Given the description of an element on the screen output the (x, y) to click on. 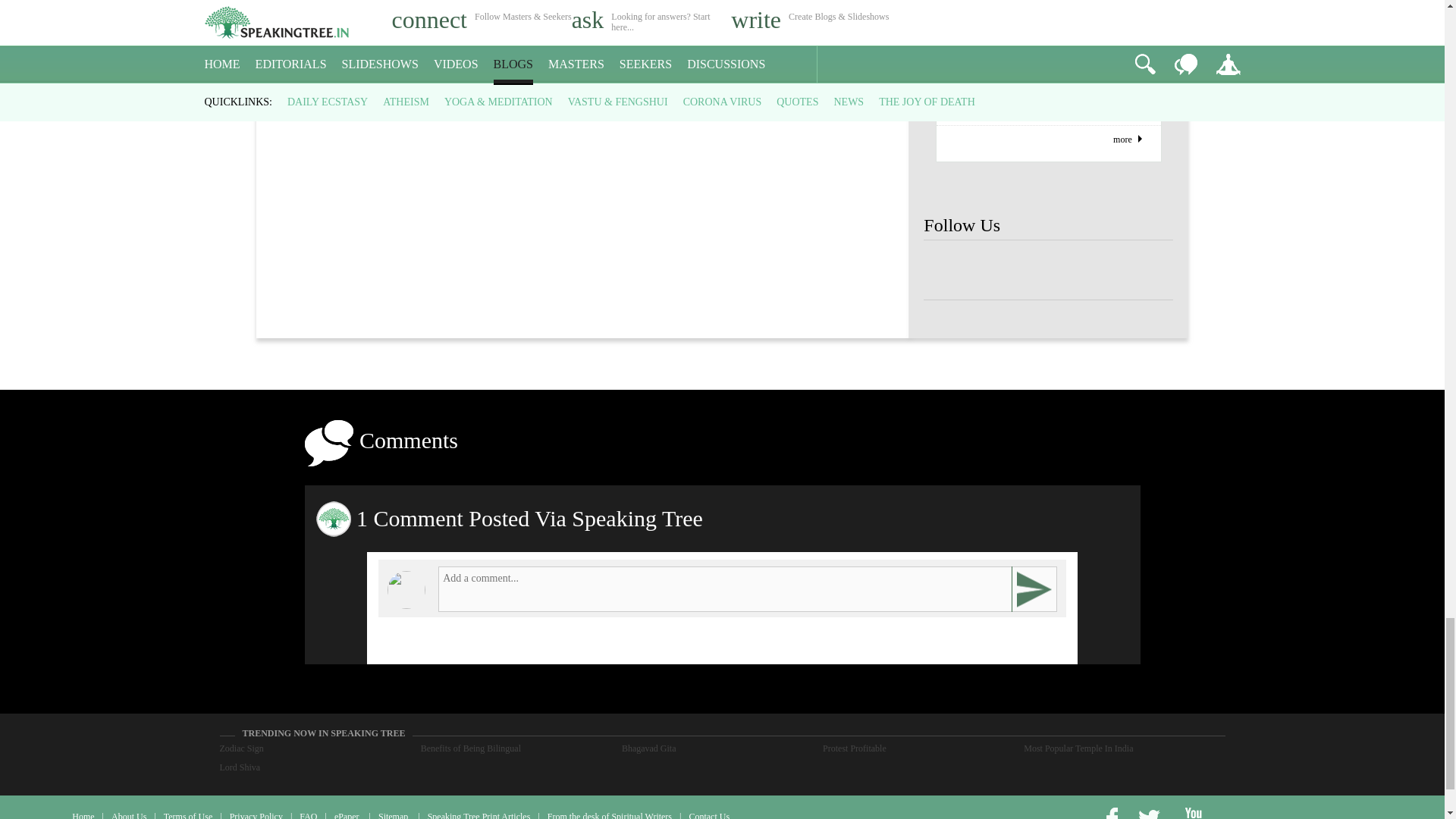
Speaking Tree FaceBook (1147, 270)
Speaking Tree FaceBook (948, 270)
Speaking Tree FaceBook (1048, 270)
Speaking Tree FaceBook (998, 270)
Speaking Tree FaceBook (1099, 270)
